Given the description of an element on the screen output the (x, y) to click on. 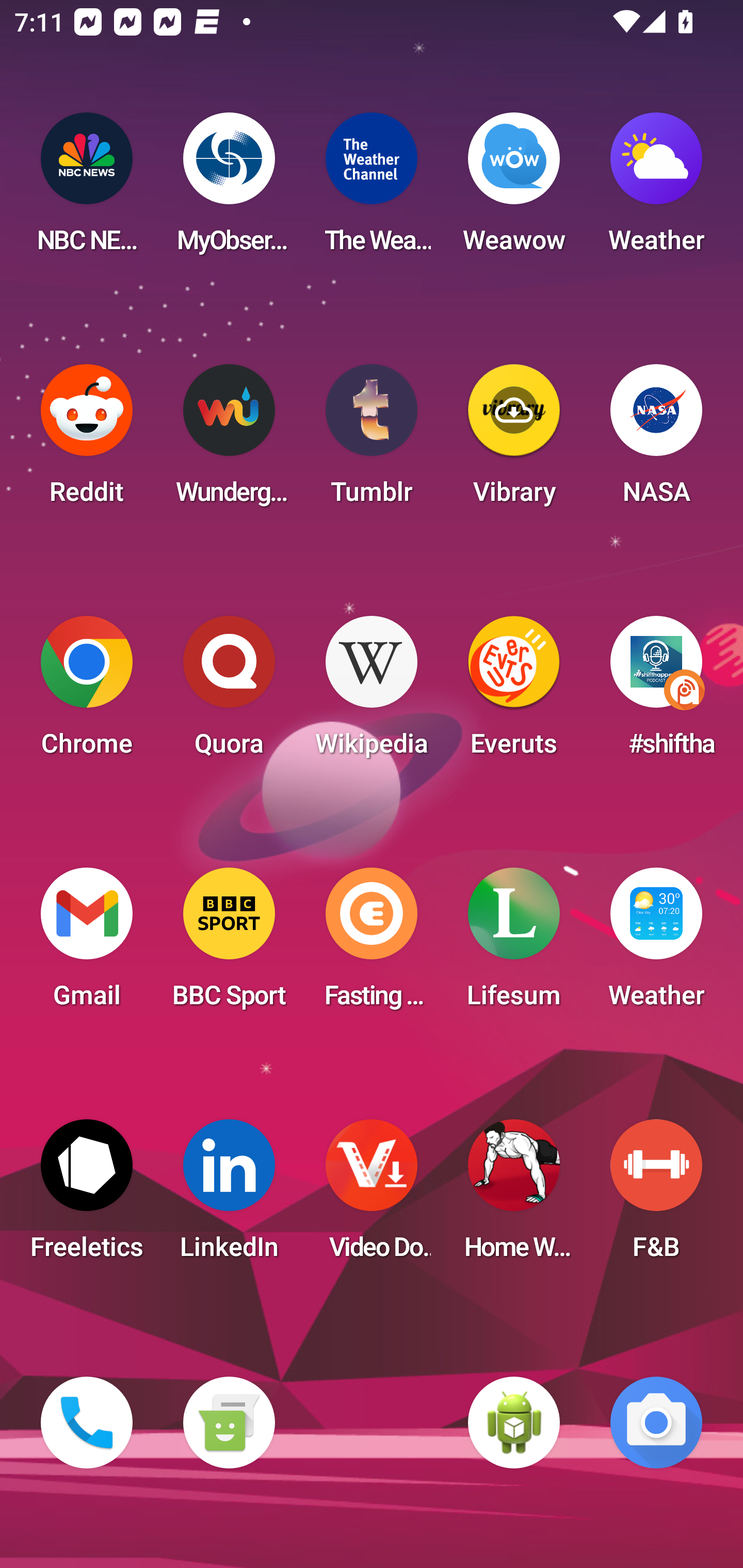
NBC NEWS (86, 188)
MyObservatory (228, 188)
The Weather Channel (371, 188)
Weawow (513, 188)
Weather (656, 188)
Reddit (86, 440)
Wunderground (228, 440)
Tumblr (371, 440)
Vibrary (513, 440)
NASA (656, 440)
Chrome (86, 692)
Quora (228, 692)
Wikipedia (371, 692)
Everuts (513, 692)
#shifthappens in the Digital Workplace Podcast (656, 692)
Gmail (86, 943)
BBC Sport (228, 943)
Fasting Coach (371, 943)
Lifesum (513, 943)
Weather (656, 943)
Freeletics (86, 1195)
LinkedIn (228, 1195)
Video Downloader & Ace Player (371, 1195)
Home Workout (513, 1195)
F&B (656, 1195)
Phone (86, 1422)
Messaging (228, 1422)
WebView Browser Tester (513, 1422)
Camera (656, 1422)
